Given the description of an element on the screen output the (x, y) to click on. 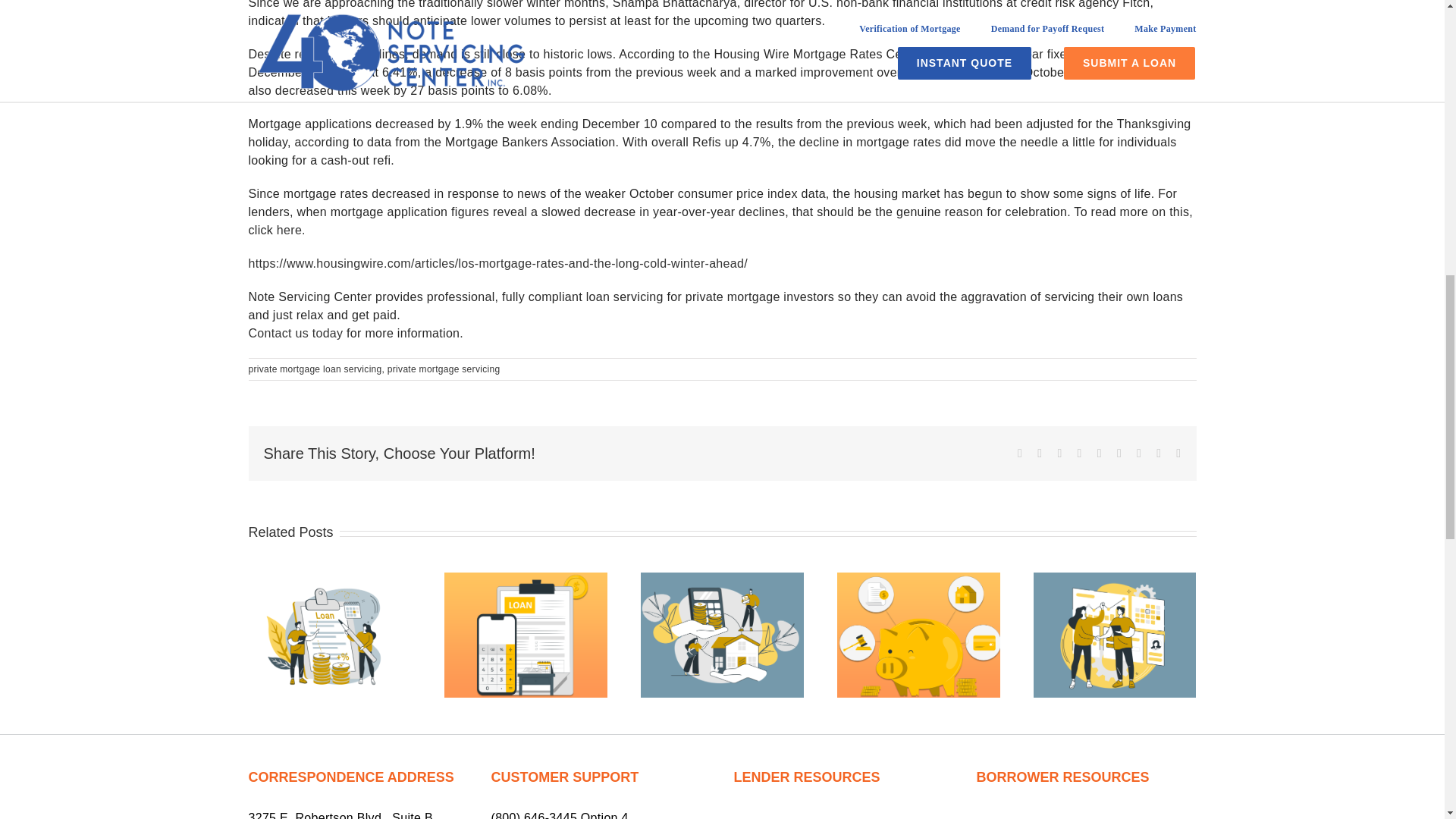
Contact us today (295, 332)
private mortgage servicing (443, 368)
private mortgage loan servicing (314, 368)
here. (290, 229)
